Given the description of an element on the screen output the (x, y) to click on. 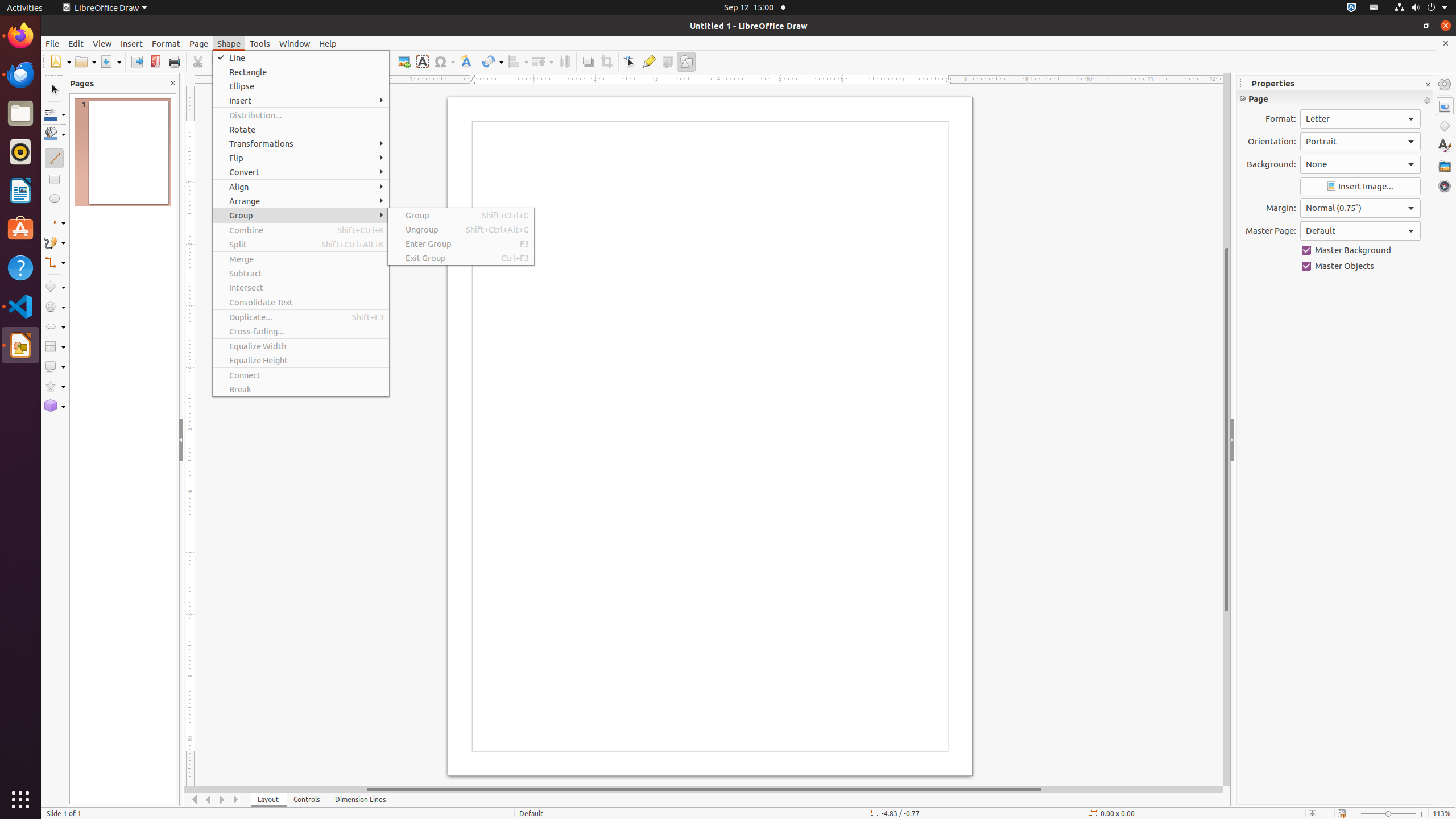
Subtract Element type: menu-item (300, 273)
Image Element type: push-button (403, 61)
Duplicate... Element type: menu-item (300, 316)
Convert Element type: menu (300, 171)
Visual Studio Code Element type: push-button (20, 306)
